Given the description of an element on the screen output the (x, y) to click on. 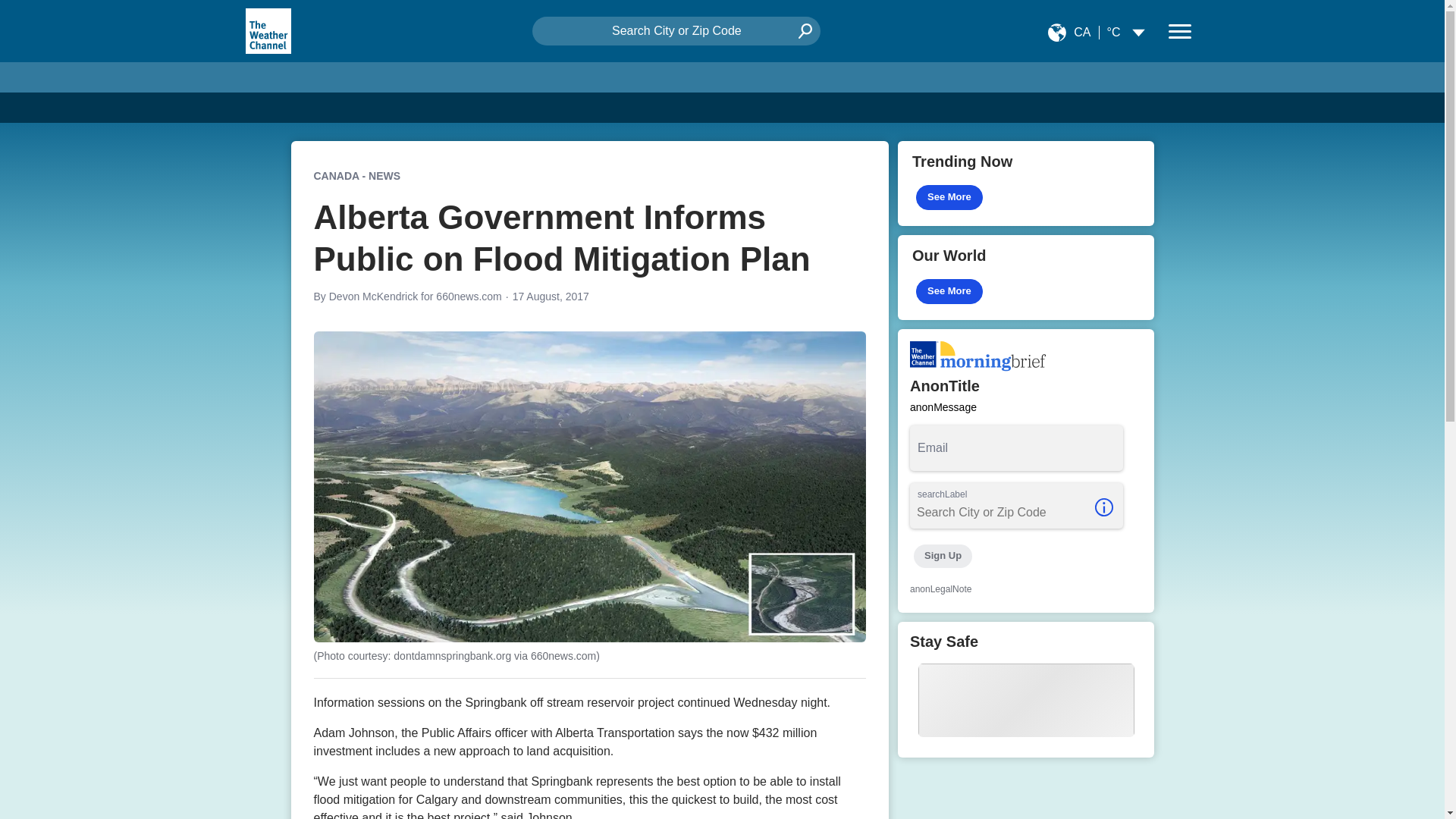
See More (948, 197)
Sign Up (941, 556)
The Weather Channel (267, 30)
The Weather Channel (268, 31)
Trending Now (1026, 183)
Stay Safe (1026, 689)
See More (948, 291)
Our World (1026, 277)
